Given the description of an element on the screen output the (x, y) to click on. 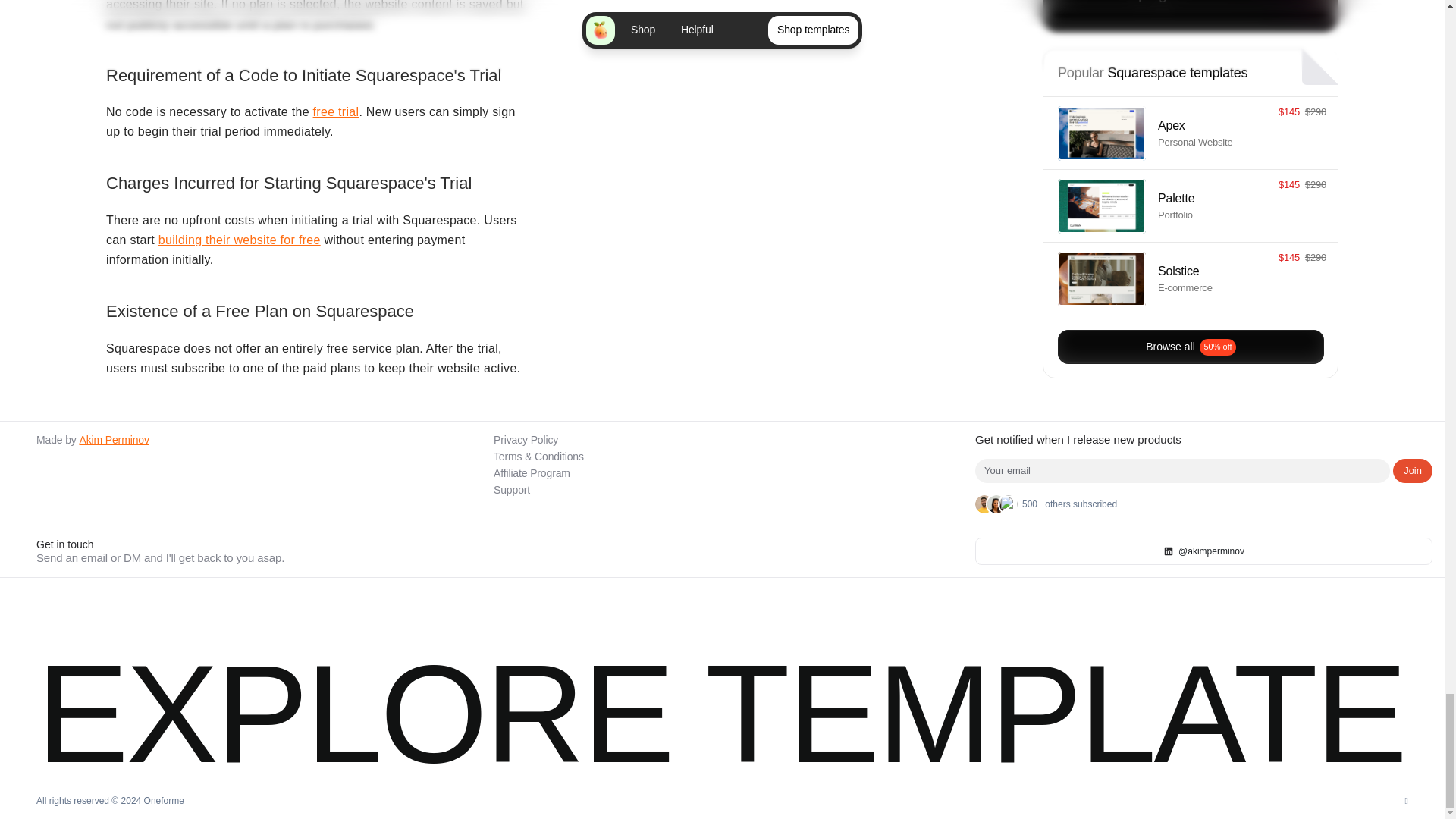
Privacy Policy (525, 439)
building their website for free (239, 239)
Join (1412, 470)
EXPLORE TEMPLATES (458, 681)
Join (1412, 470)
Akim Perminov (113, 439)
Affiliate Program (531, 472)
free trial (336, 111)
Support (511, 490)
